Given the description of an element on the screen output the (x, y) to click on. 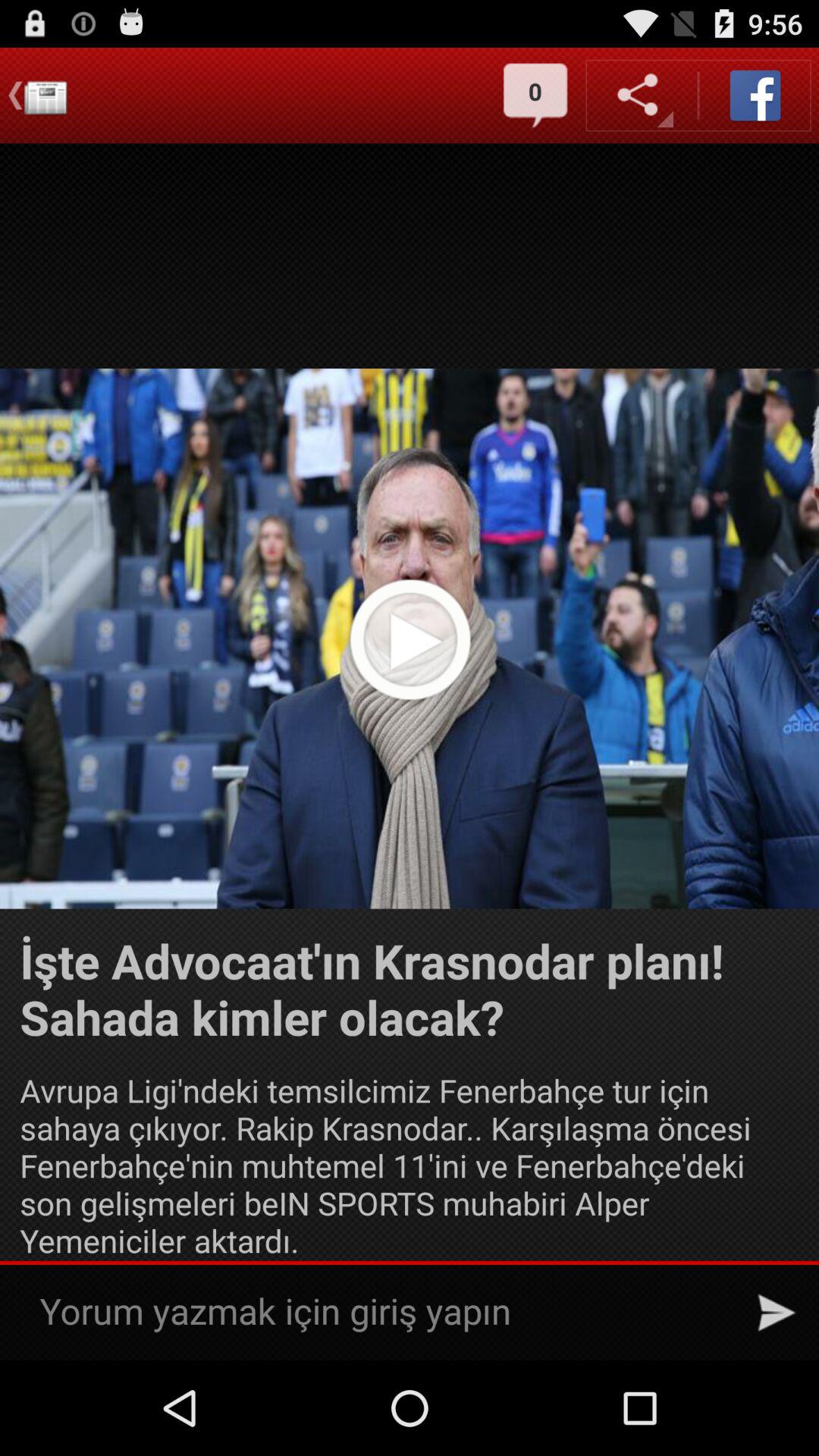
send the message (776, 1312)
